Given the description of an element on the screen output the (x, y) to click on. 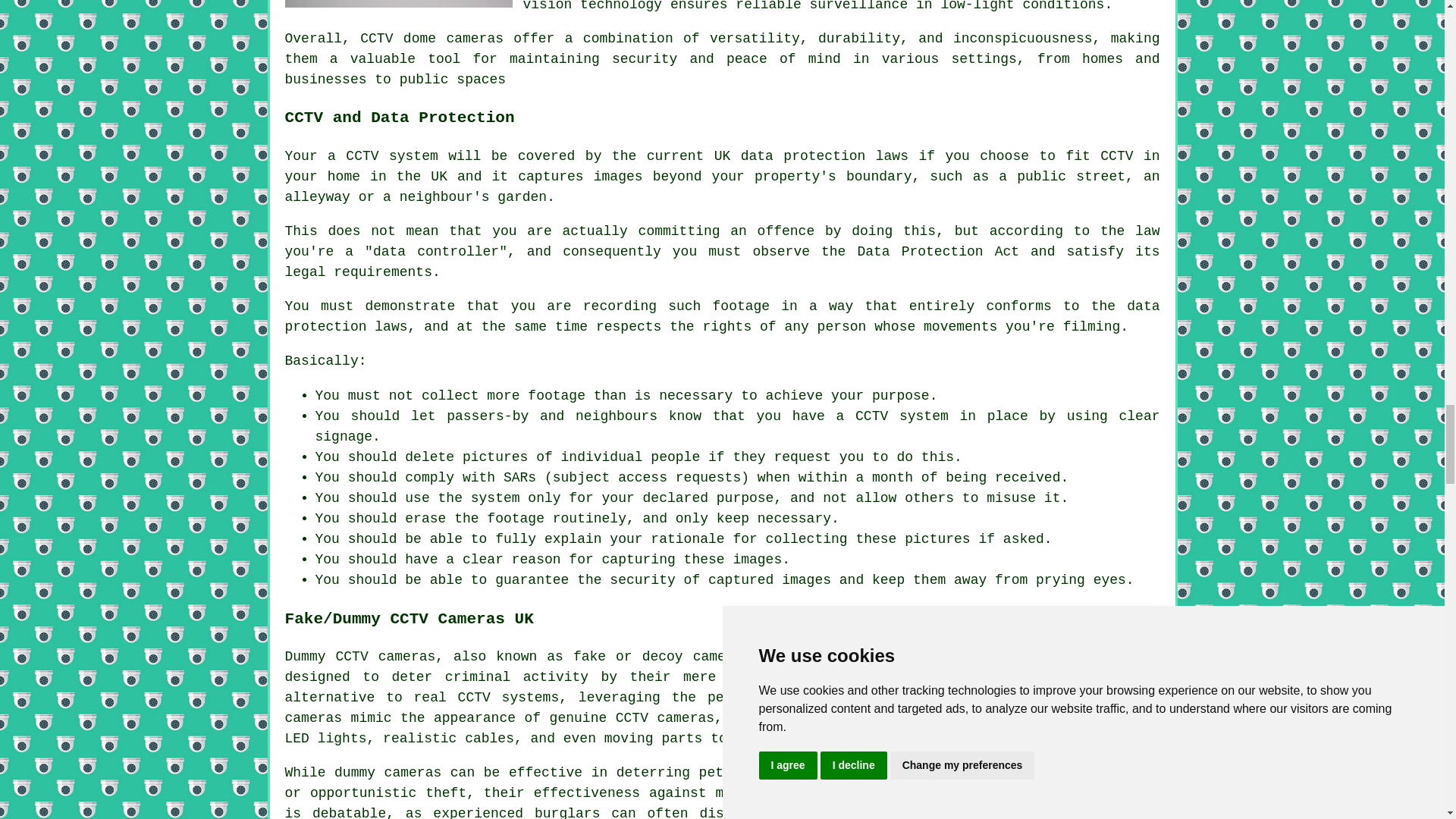
CCTV Dome Cameras (398, 3)
